Given the description of an element on the screen output the (x, y) to click on. 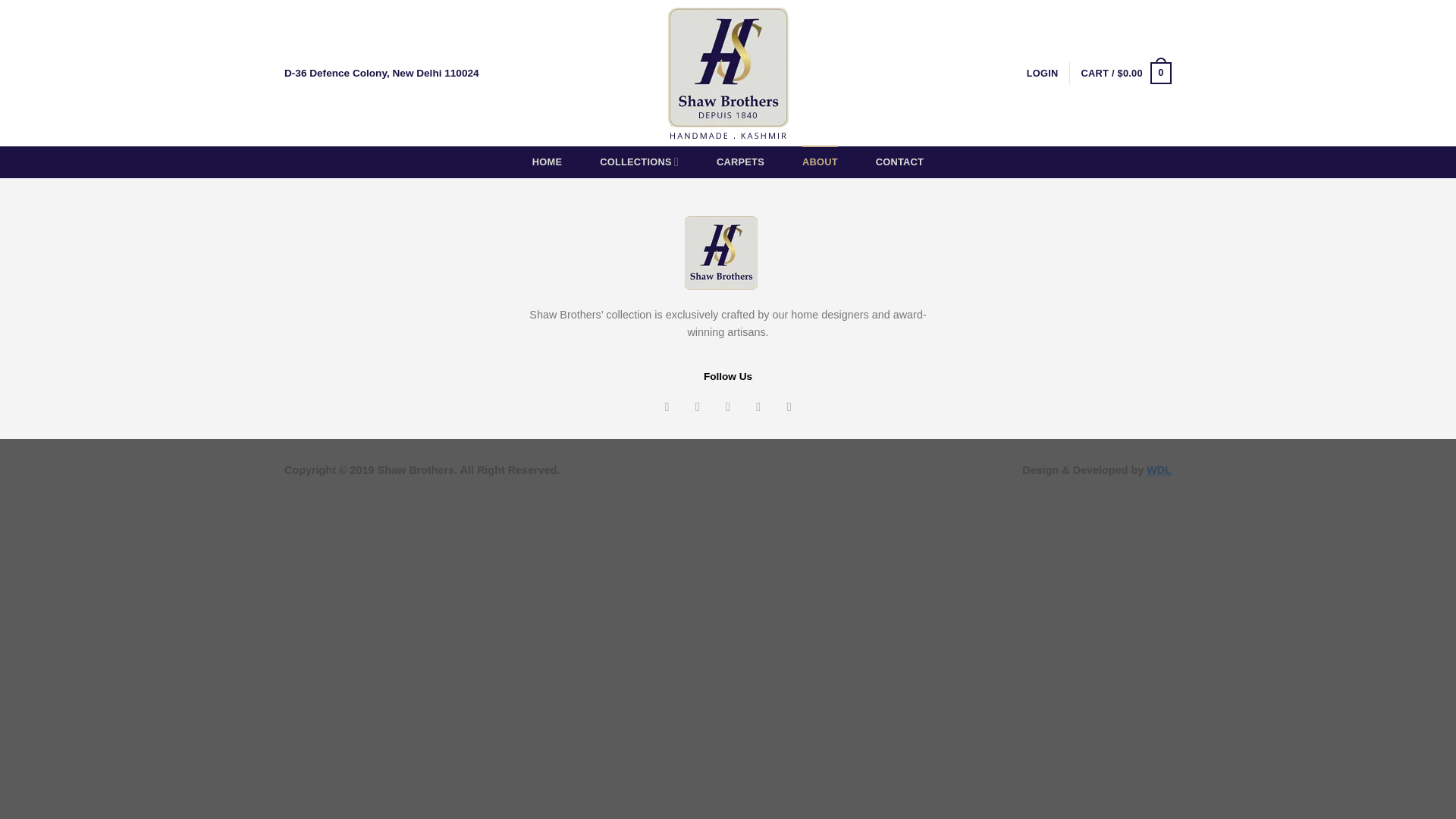
WDL (1159, 469)
ABOUT (820, 162)
CARPETS (740, 162)
LOGIN (1042, 72)
Follow on Twitter (727, 406)
COLLECTIONS (638, 162)
Cart (1126, 73)
Shaw Brothers Official (728, 73)
CONTACT (899, 162)
HOME (547, 162)
